Given the description of an element on the screen output the (x, y) to click on. 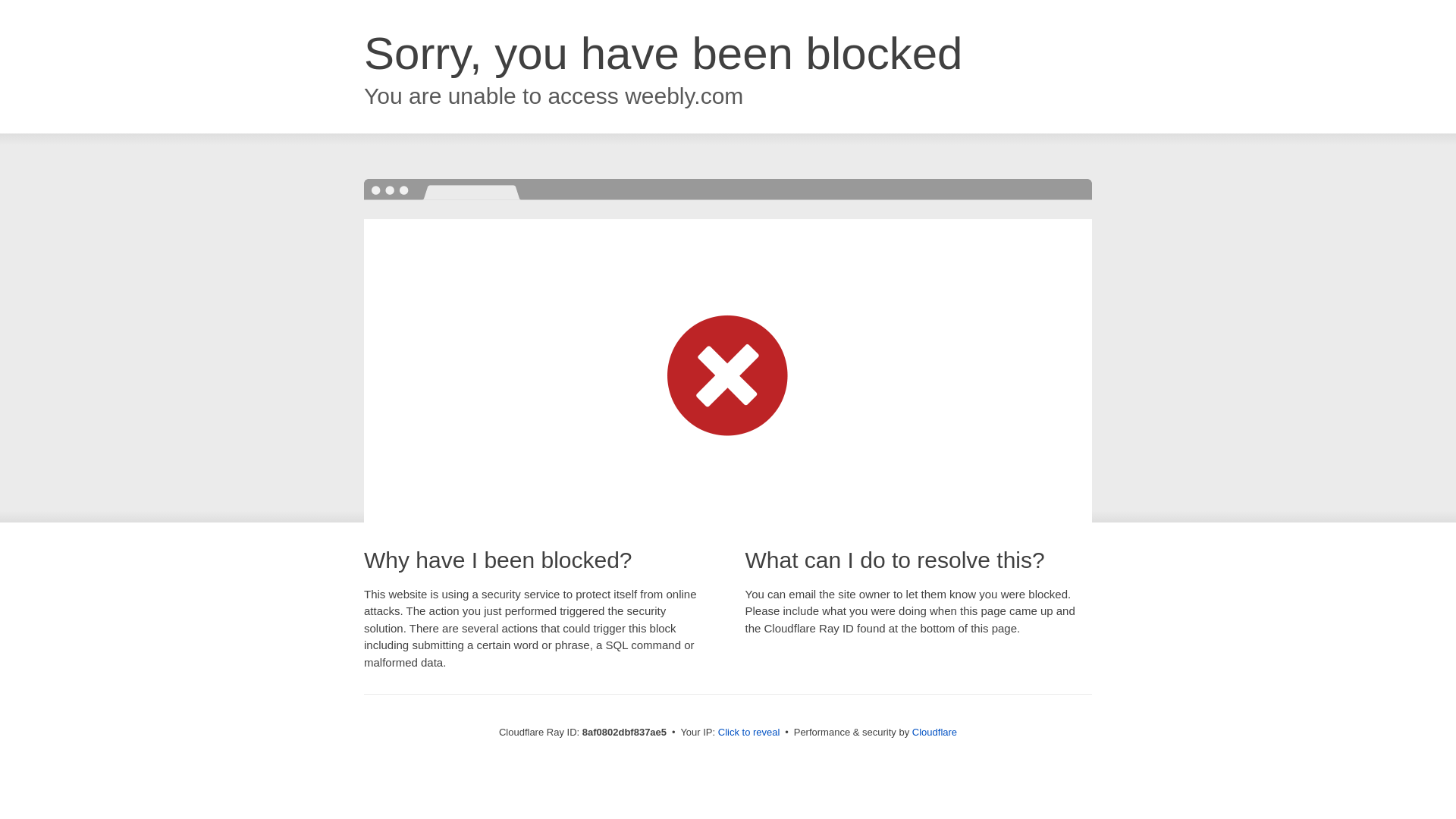
Click to reveal (748, 732)
Cloudflare (934, 731)
